Given the description of an element on the screen output the (x, y) to click on. 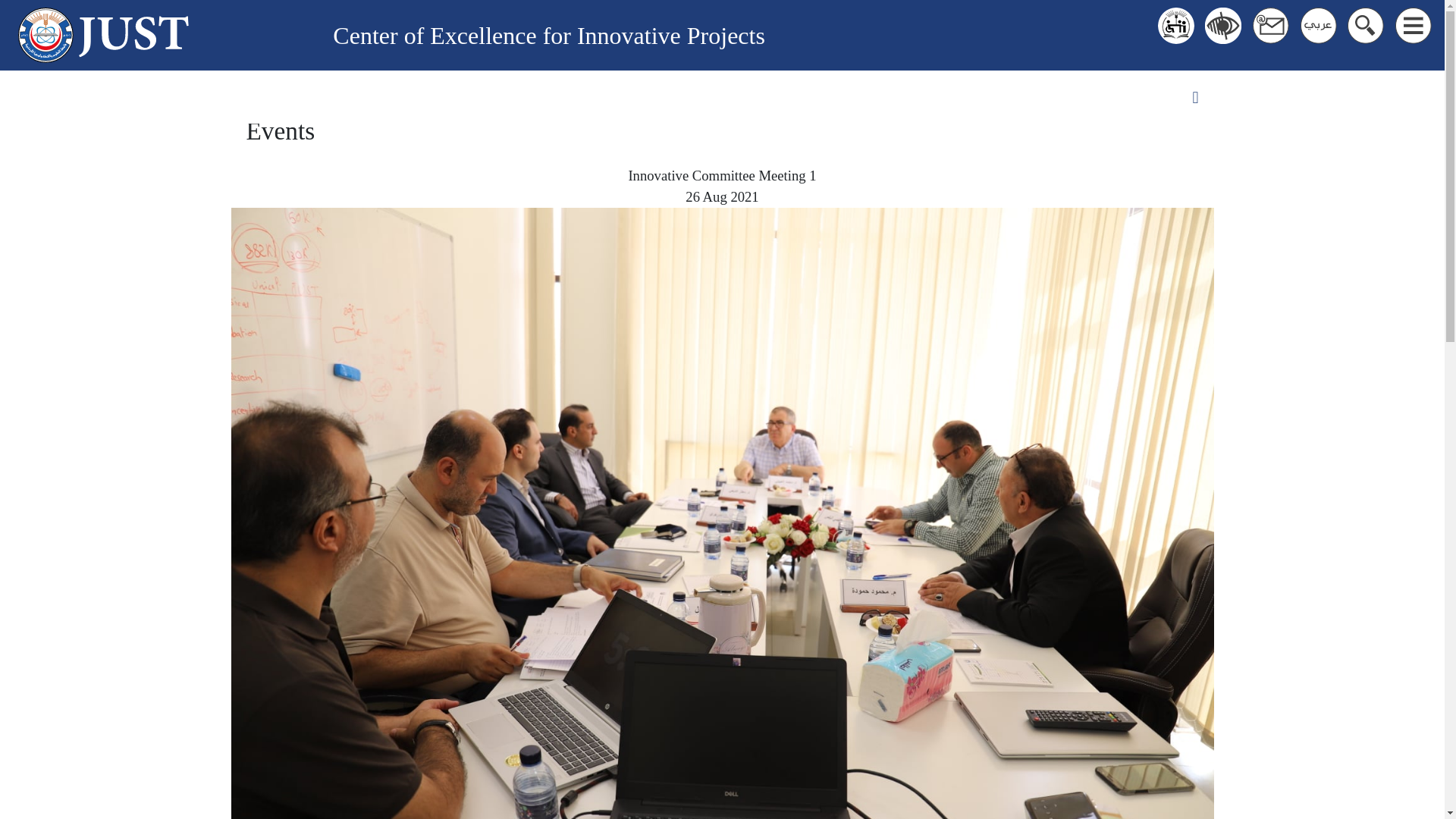
Center of Excellence for Innovative Projects (549, 34)
